Given the description of an element on the screen output the (x, y) to click on. 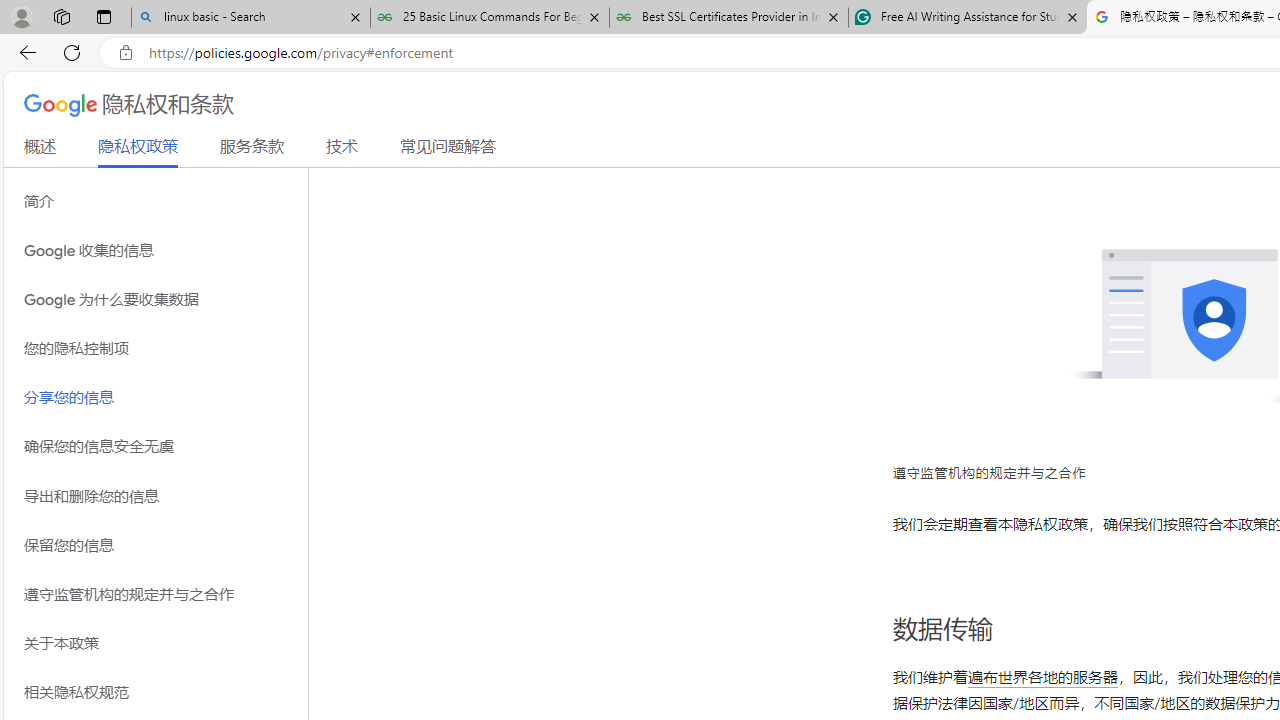
linux basic - Search (250, 17)
